Given the description of an element on the screen output the (x, y) to click on. 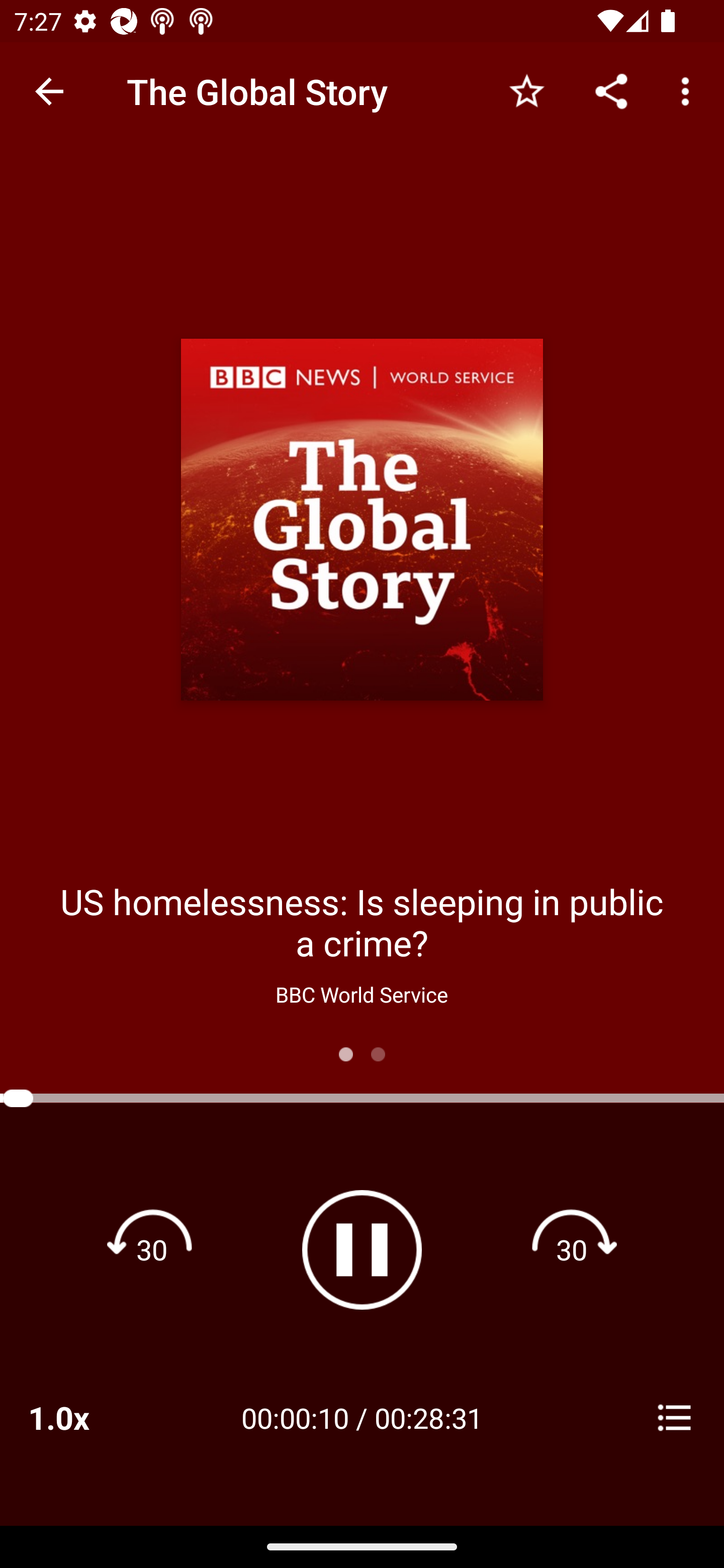
Navigate up (49, 91)
Add to Favorites (526, 90)
Share... (611, 90)
More options (688, 90)
BBC World Service (361, 994)
Pause (361, 1249)
Rewind (151, 1249)
Fast forward (571, 1249)
1.0x Playback Speeds (84, 1417)
00:28:31 (428, 1417)
